Given the description of an element on the screen output the (x, y) to click on. 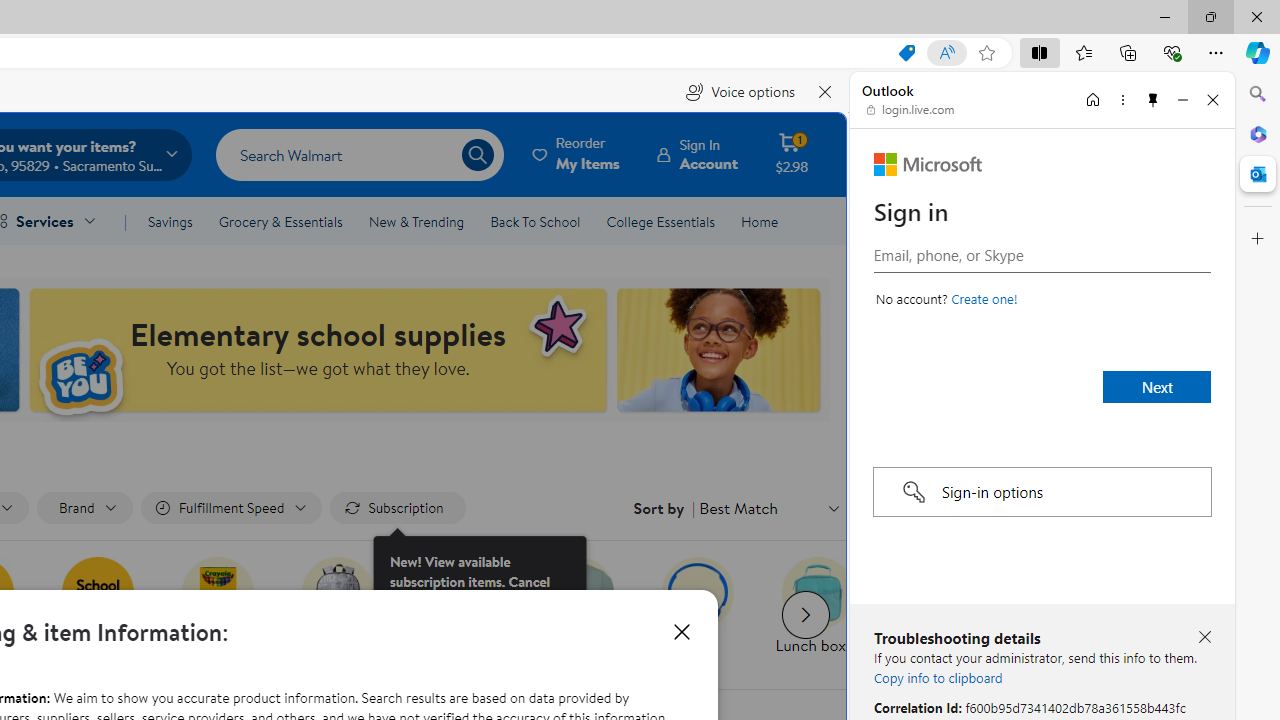
Close Search pane (1258, 94)
Copy info to clipboard (938, 677)
Create a Microsoft account (984, 298)
Close troubleshooting details (1204, 637)
login.live.com (911, 110)
